Given the description of an element on the screen output the (x, y) to click on. 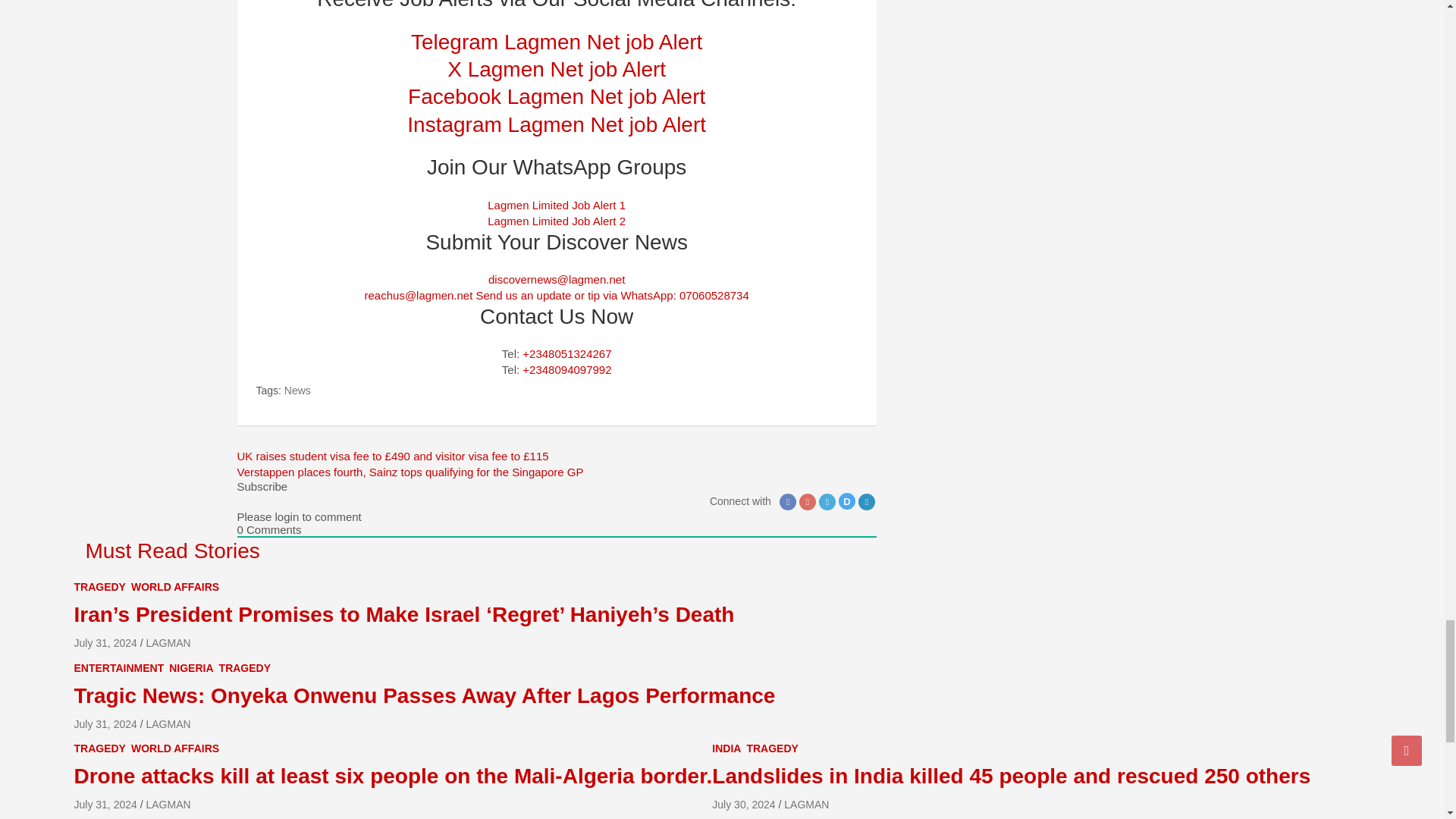
Telegram Lagmen Net job Alert (555, 42)
Landslides in India killed 45 people and rescued 250 others (742, 804)
